Given the description of an element on the screen output the (x, y) to click on. 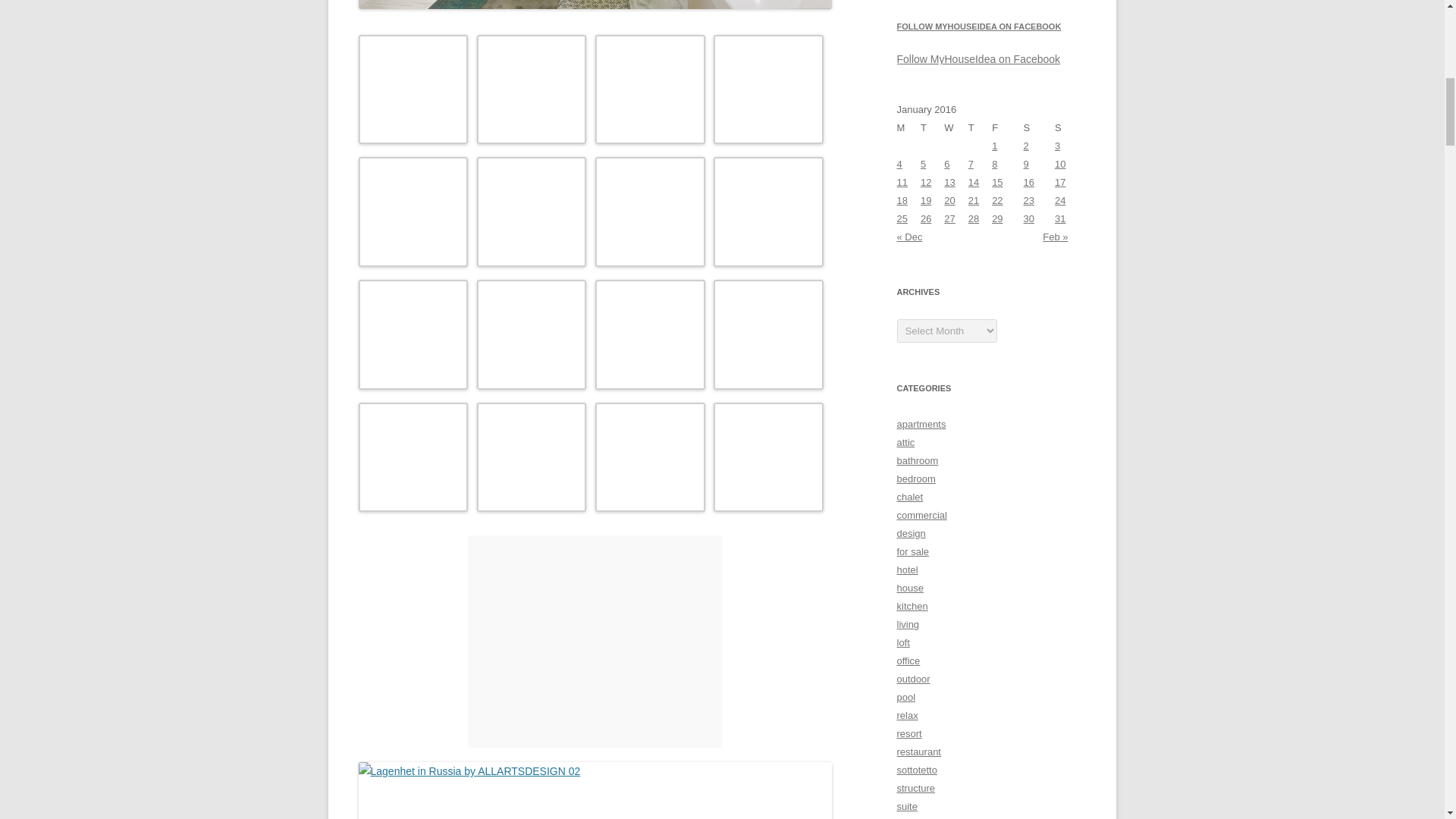
Wednesday (955, 127)
Tuesday (931, 127)
Monday (908, 127)
Thursday (979, 127)
